Given the description of an element on the screen output the (x, y) to click on. 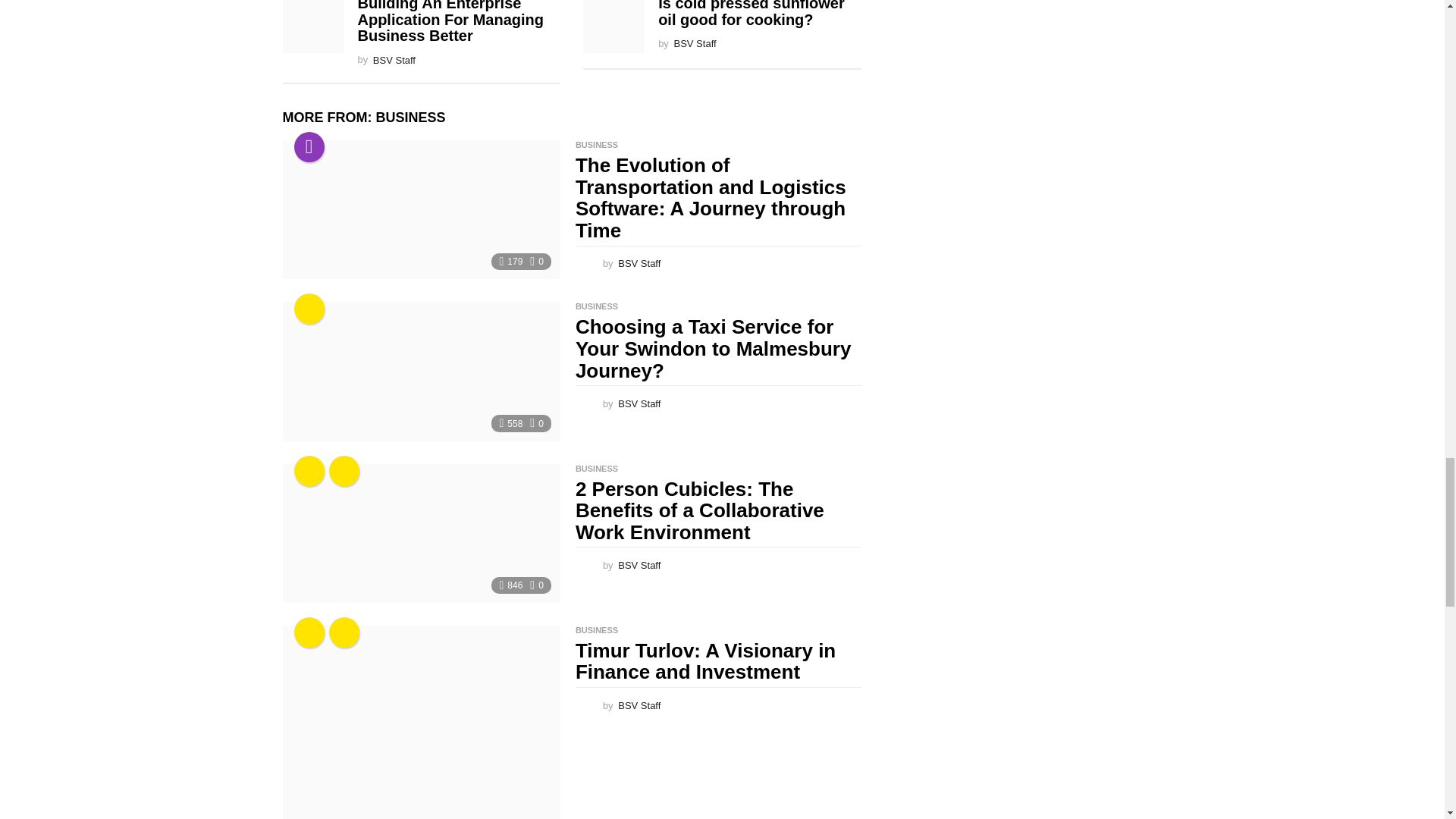
omg (309, 308)
love (309, 470)
Trending (309, 146)
